Given the description of an element on the screen output the (x, y) to click on. 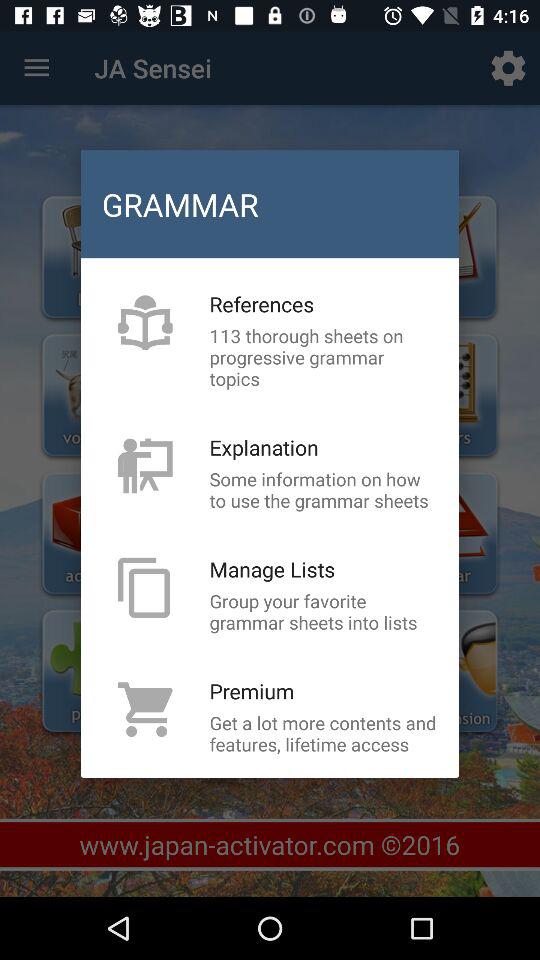
choose the icon below the premium icon (323, 733)
